Given the description of an element on the screen output the (x, y) to click on. 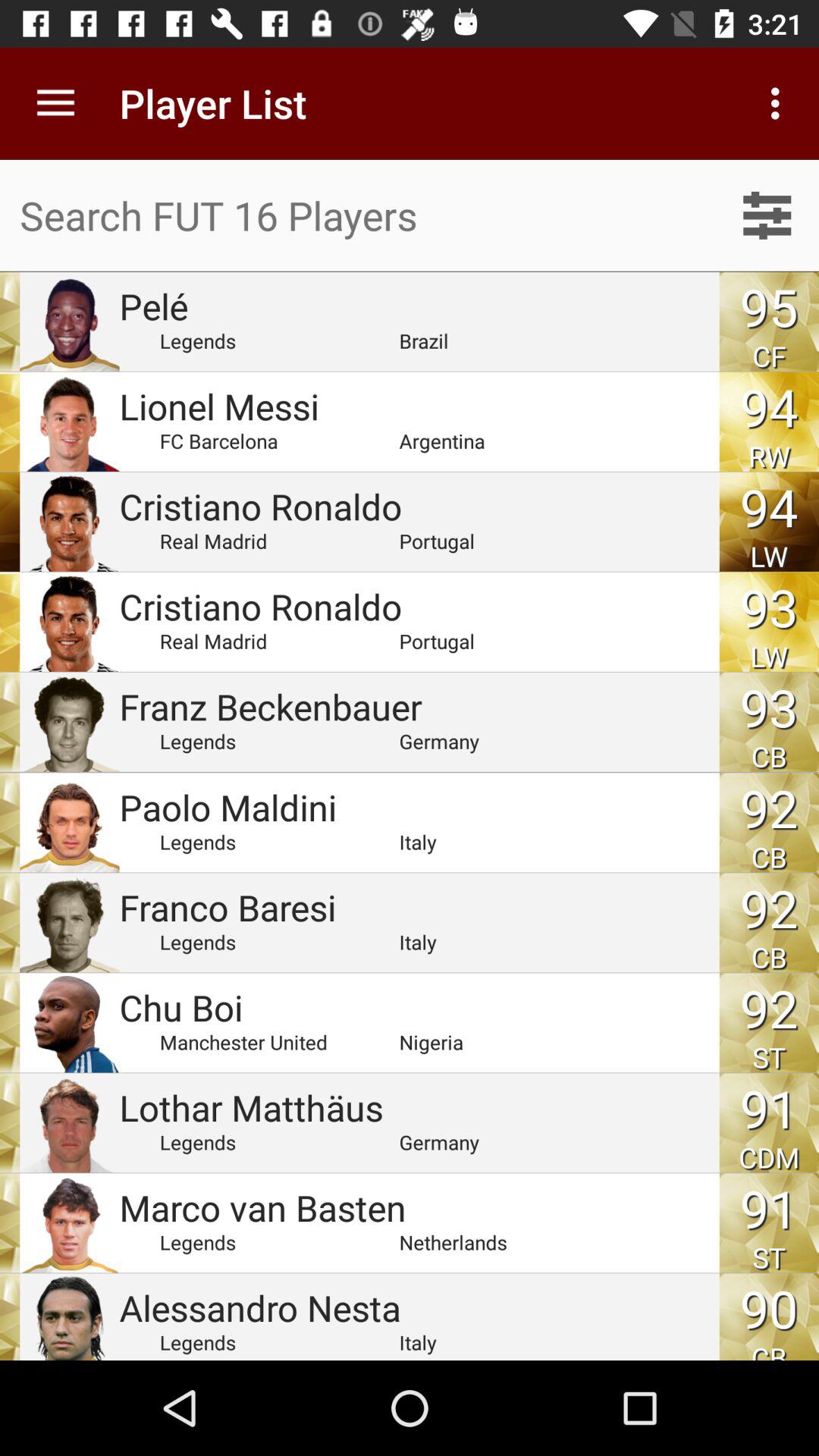
go to search box (357, 215)
